Given the description of an element on the screen output the (x, y) to click on. 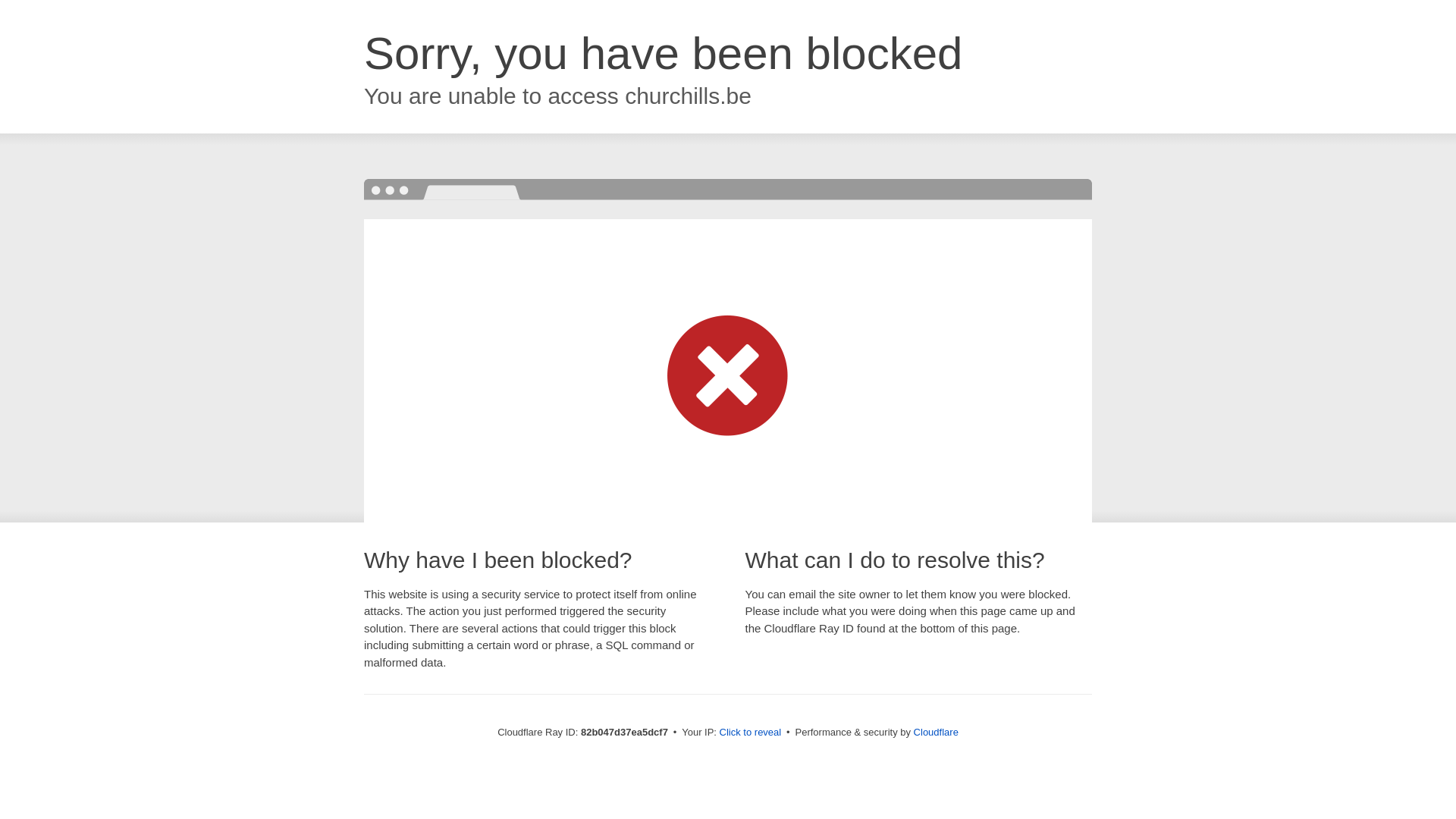
Cloudflare Element type: text (935, 731)
Click to reveal Element type: text (750, 732)
